Given the description of an element on the screen output the (x, y) to click on. 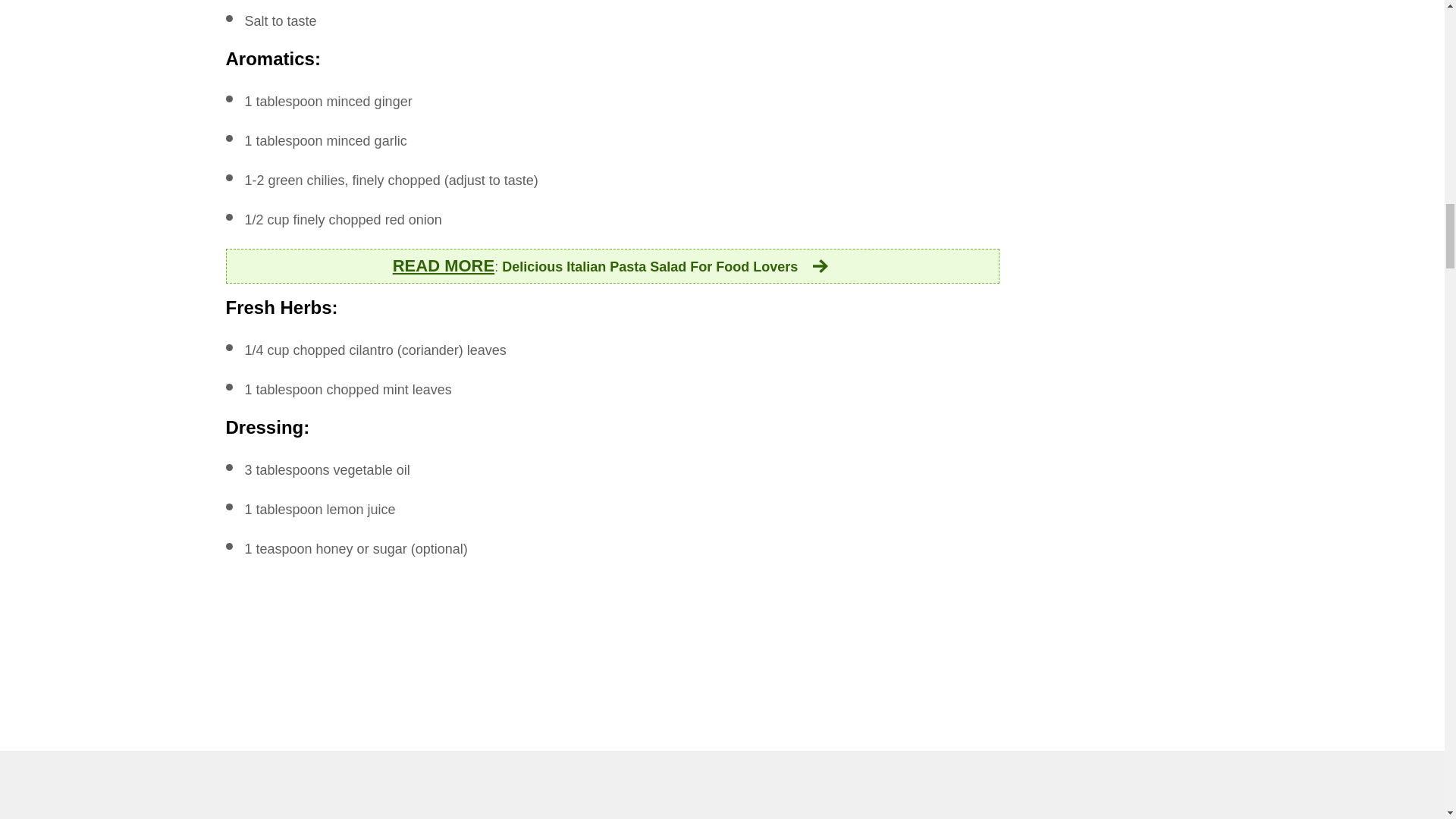
Delicious Italian Pasta Salad For Food Lovers (666, 266)
